Given the description of an element on the screen output the (x, y) to click on. 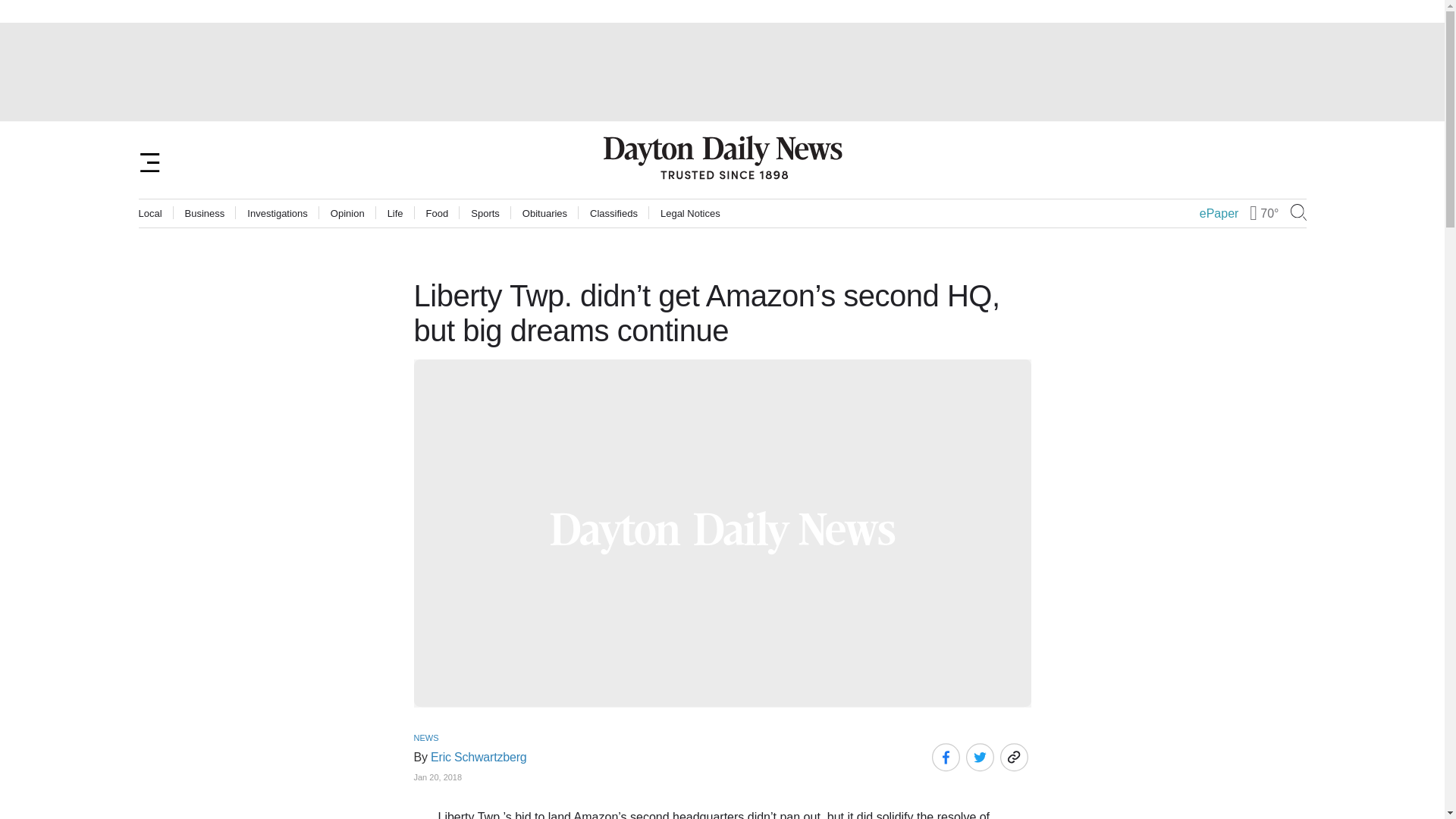
Classifieds (613, 213)
Local (149, 213)
Investigations (277, 213)
Legal Notices (690, 213)
Food (437, 213)
Opinion (347, 213)
ePaper (1219, 214)
Obituaries (544, 213)
Life (395, 213)
